Given the description of an element on the screen output the (x, y) to click on. 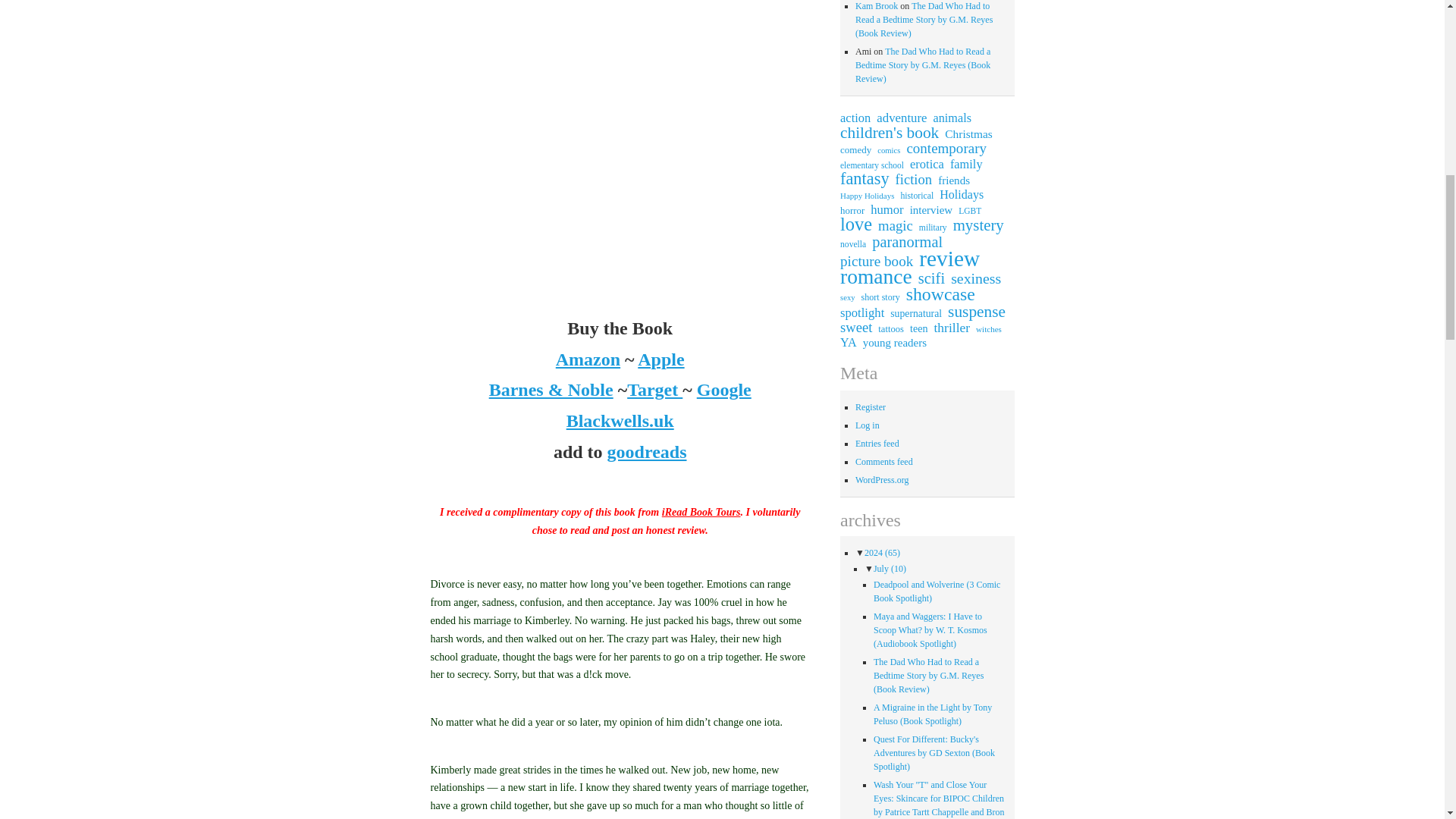
Target  (654, 389)
July (889, 568)
click to collapse (860, 552)
click to collapse (868, 568)
Google (724, 389)
iRead Book Tours (701, 511)
goodreads (647, 451)
Apple (660, 358)
Blackwells.uk (620, 420)
Amazon (588, 358)
